Given the description of an element on the screen output the (x, y) to click on. 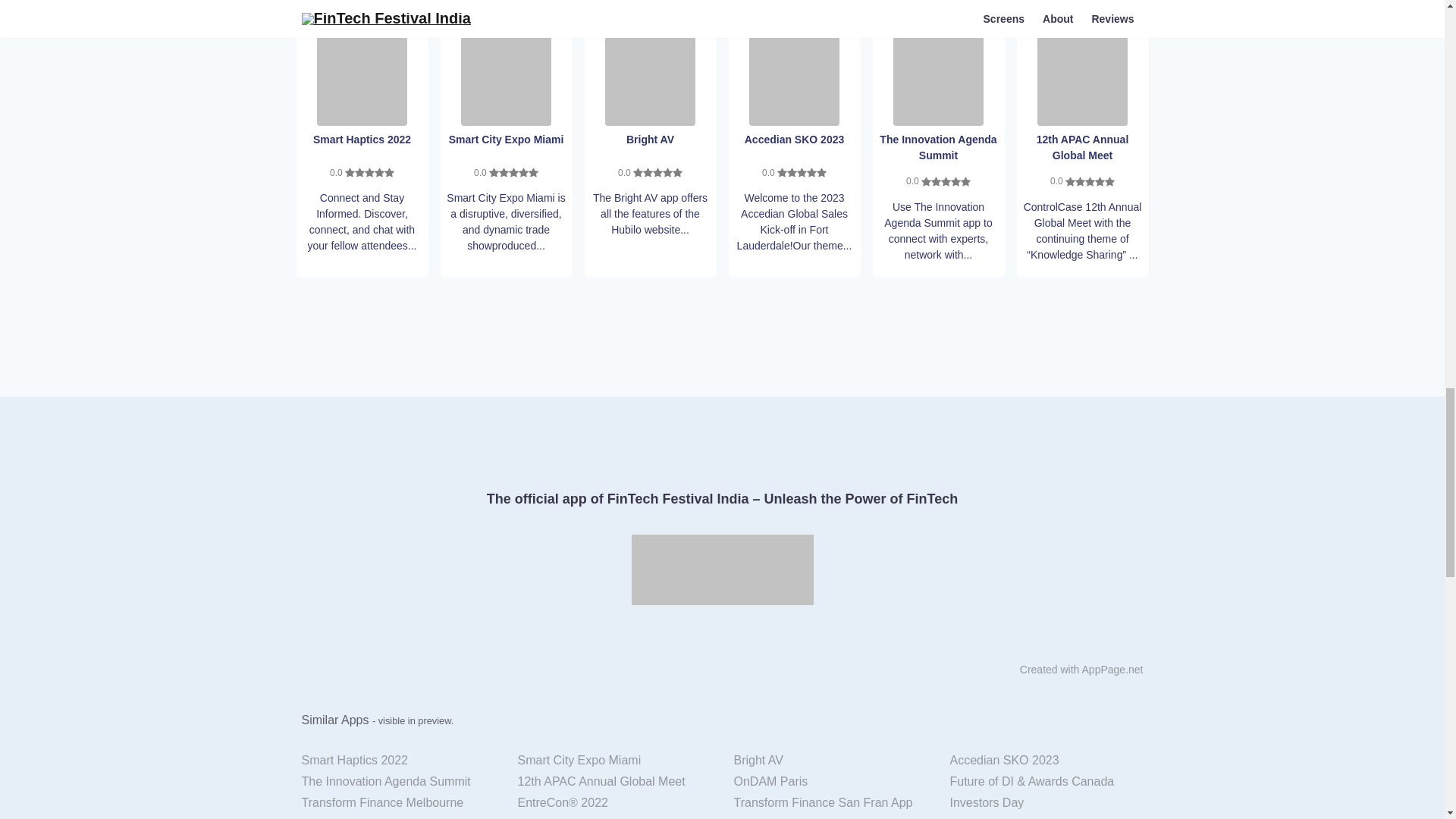
Transform Finance San Fran App (829, 803)
Accedian SKO 2023 (794, 79)
12th APAC Annual Global Meet (614, 781)
Bright AV (650, 79)
Bright AV (829, 760)
Transform Finance Melbourne (397, 803)
12th APAC Annual Global Meet (1081, 79)
Smart City Expo Miami (614, 760)
AppPage.net (1111, 669)
OnDAM Paris (829, 781)
